Given the description of an element on the screen output the (x, y) to click on. 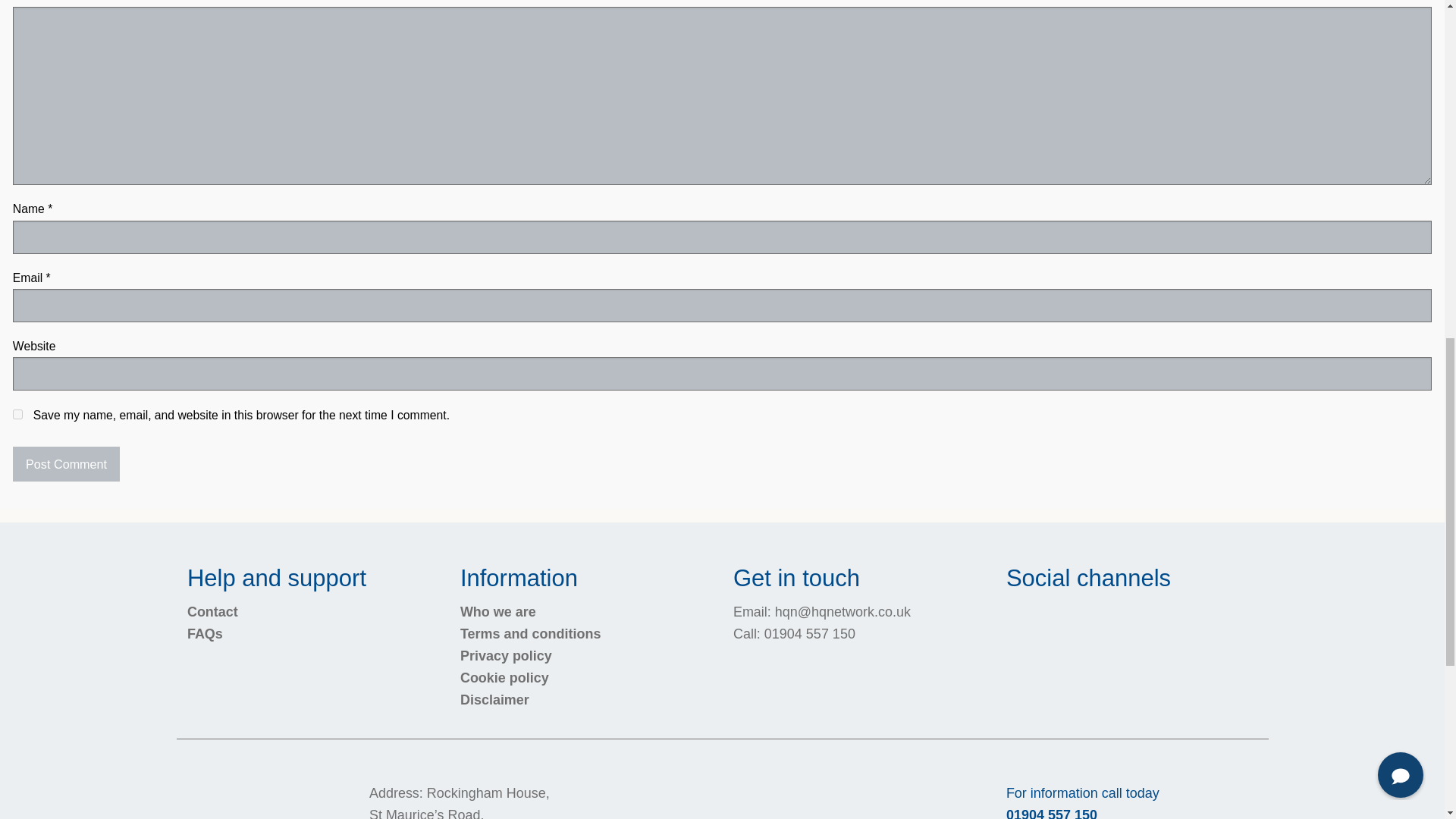
yes (18, 414)
Post Comment (66, 463)
